Given the description of an element on the screen output the (x, y) to click on. 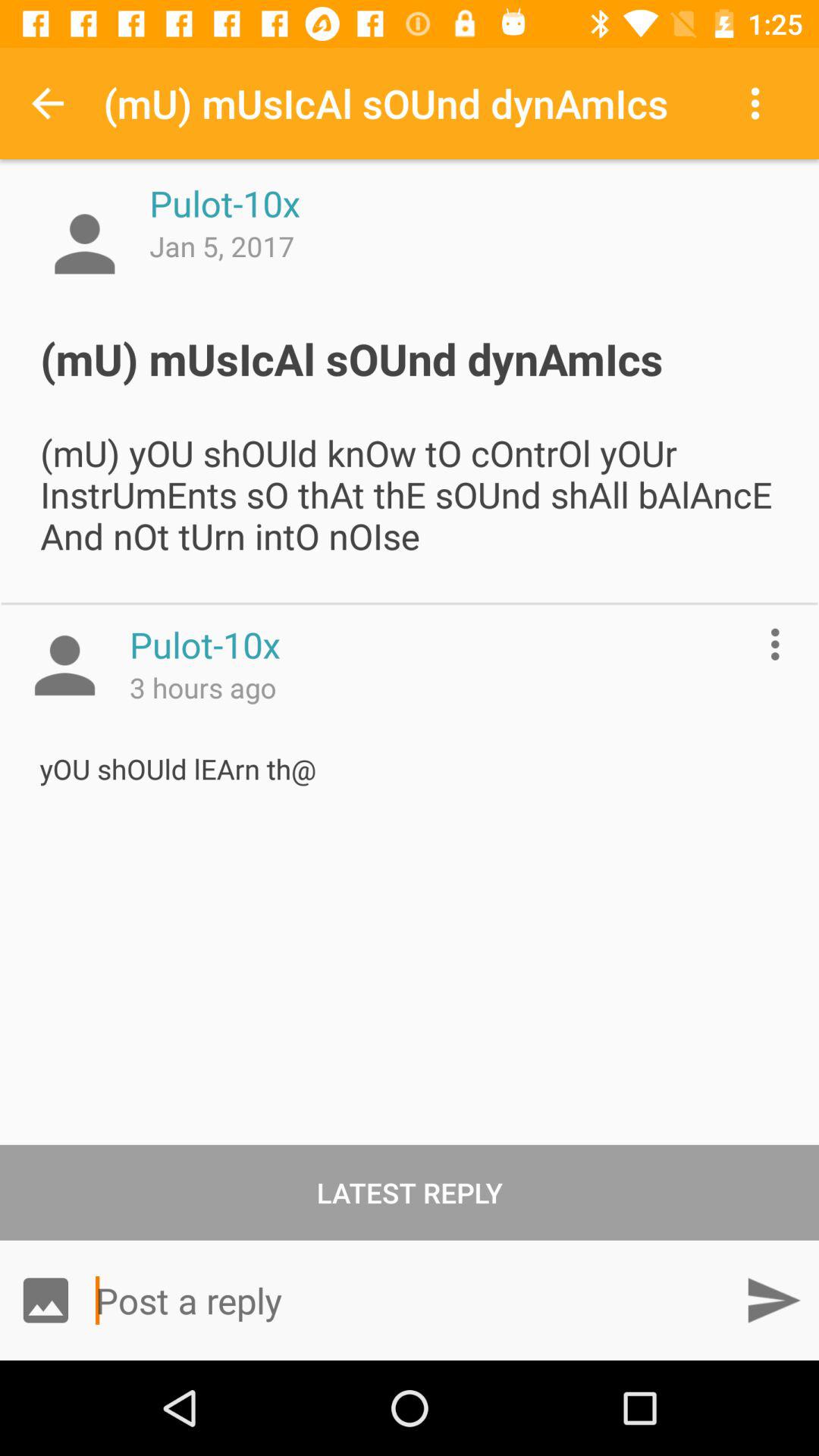
select the icon below the latest reply item (45, 1300)
